Given the description of an element on the screen output the (x, y) to click on. 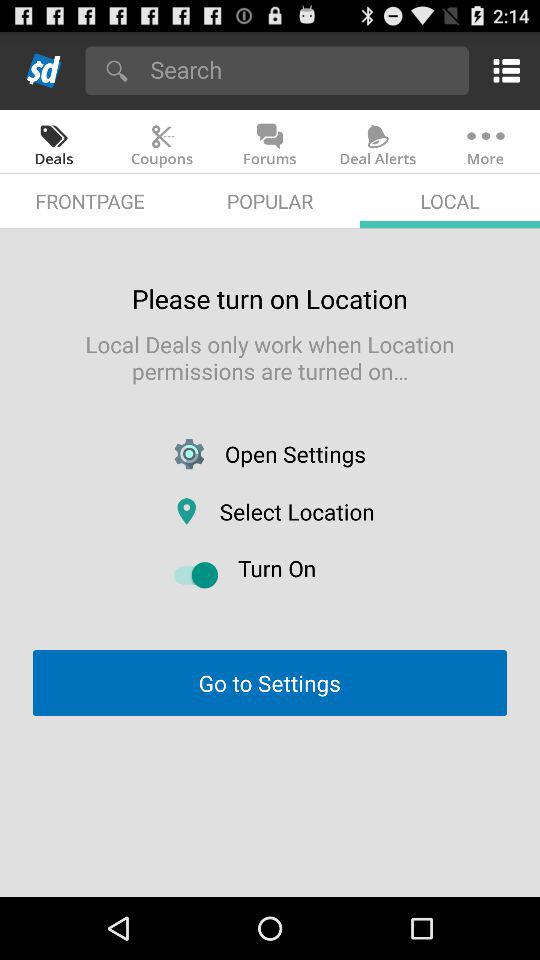
choose the app above more item (502, 70)
